Given the description of an element on the screen output the (x, y) to click on. 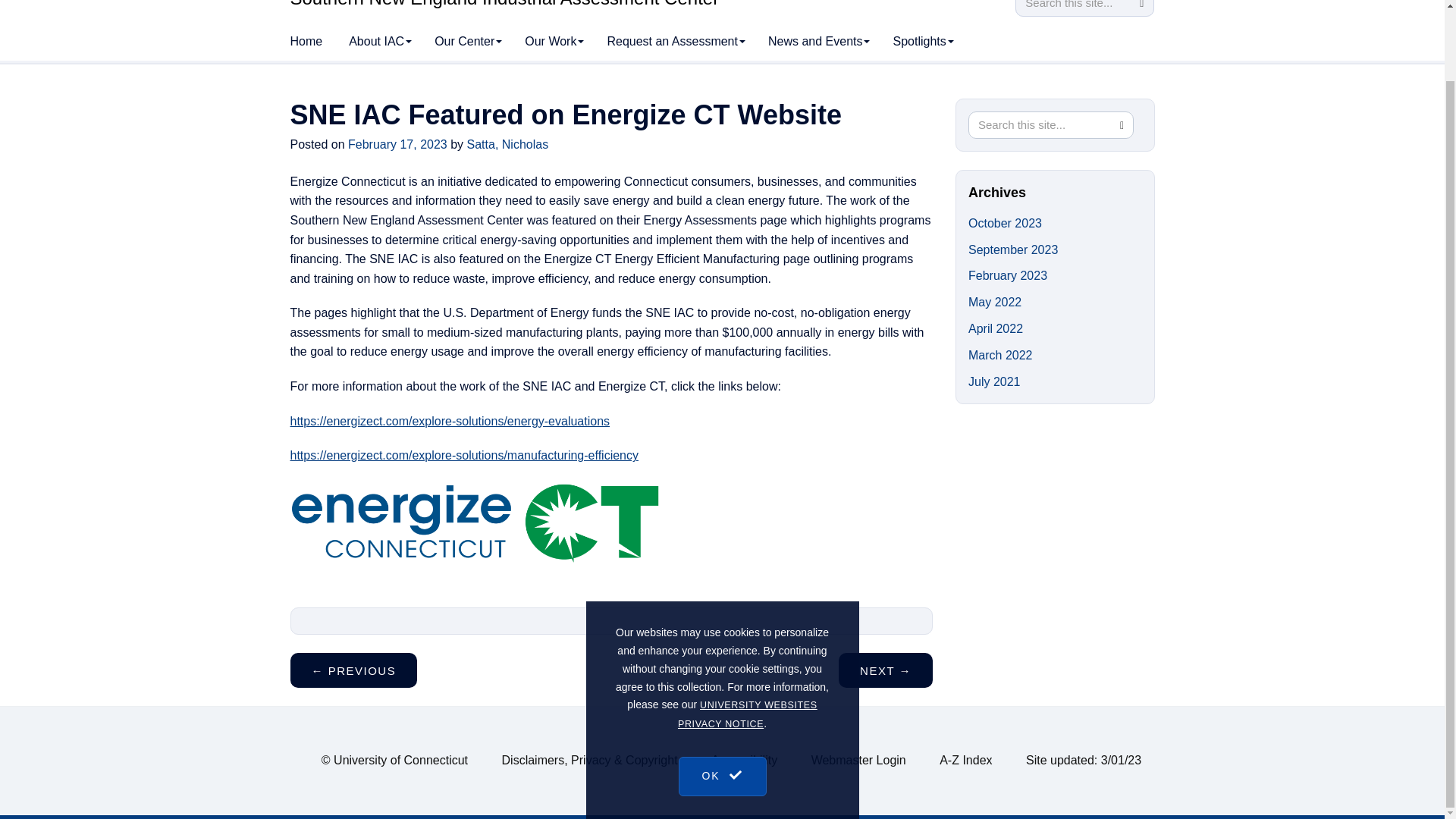
News and Events (819, 41)
Search this site...  (1040, 125)
Search this site...  (1072, 7)
Southern New England Industrial Assessment Center (504, 4)
Our Work (554, 41)
Home (306, 41)
Our Center (468, 41)
Search (1141, 7)
Posts by Satta, Nicholas (507, 144)
